Given the description of an element on the screen output the (x, y) to click on. 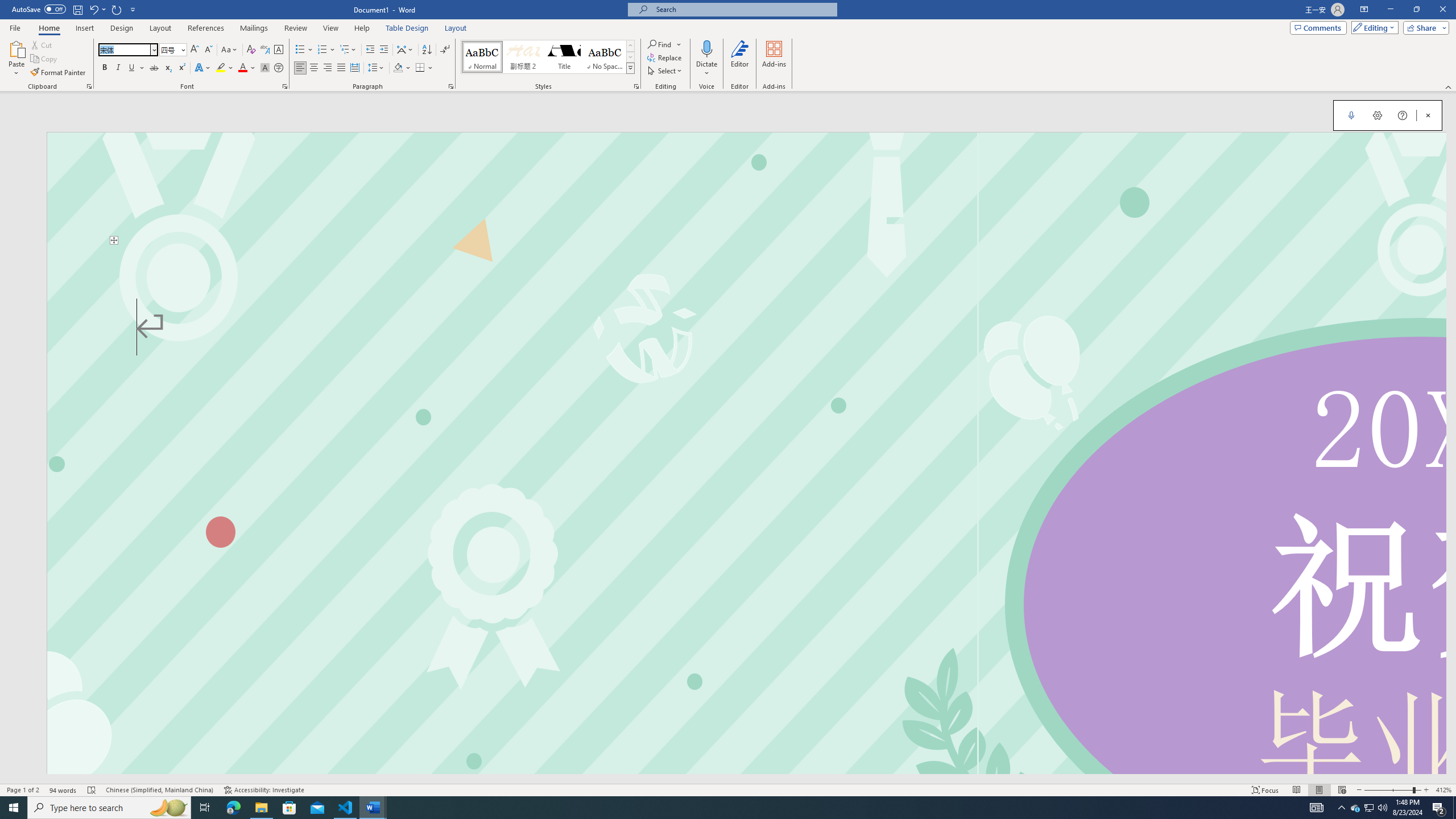
Page 1 content (745, 508)
Undo Text Fill Effect (92, 9)
